Given the description of an element on the screen output the (x, y) to click on. 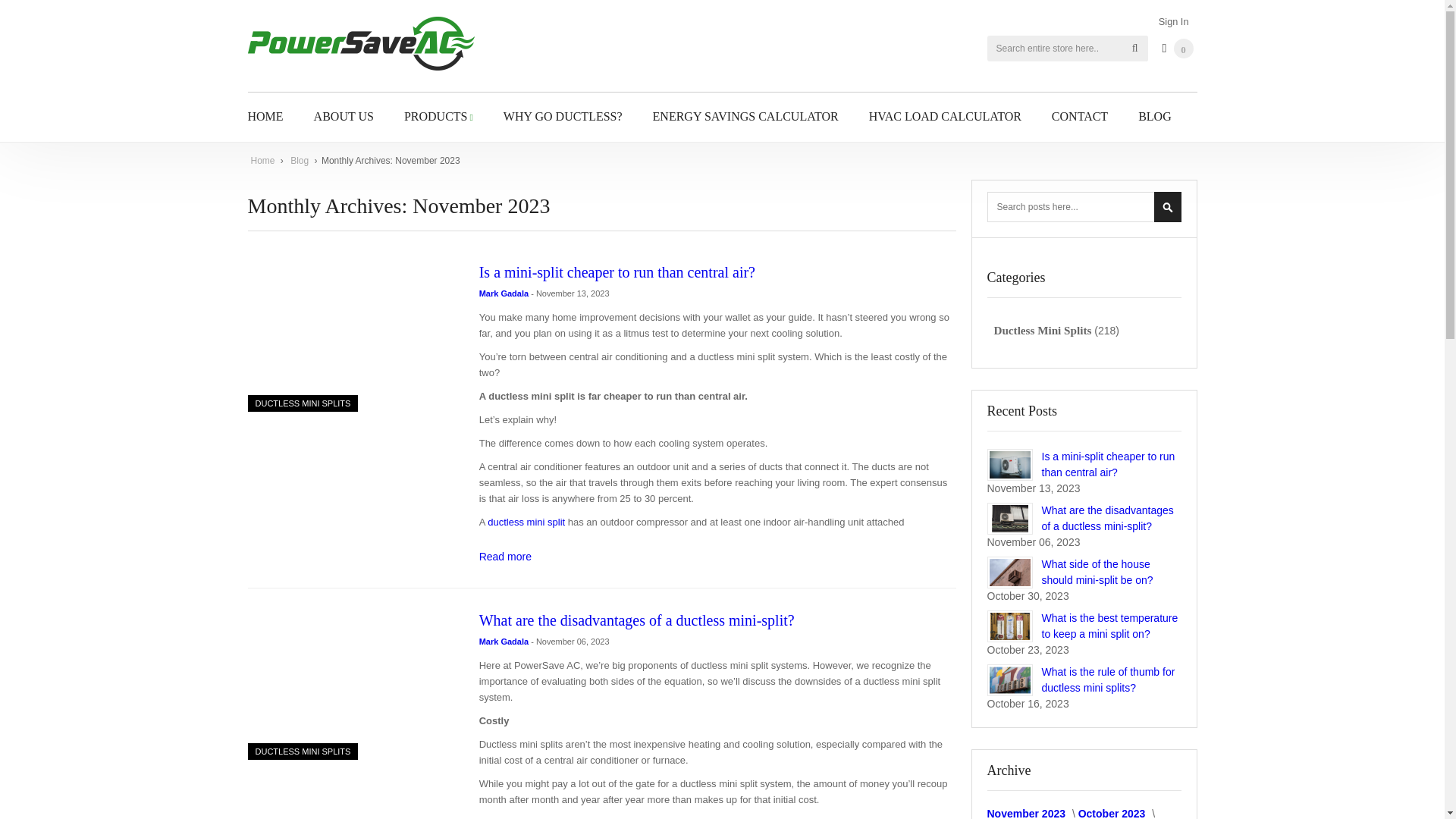
WHY GO DUCTLESS? (563, 115)
Is a mini-split cheaper to run than central air? (505, 556)
CONTACT (1079, 115)
Go to Home Page (263, 160)
Blog (300, 160)
Ductless Mini Splits (302, 751)
Search (1135, 48)
ENERGY SAVINGS CALCULATOR (745, 115)
Ductless Mini Splits (302, 402)
Power Save AC (360, 45)
